Given the description of an element on the screen output the (x, y) to click on. 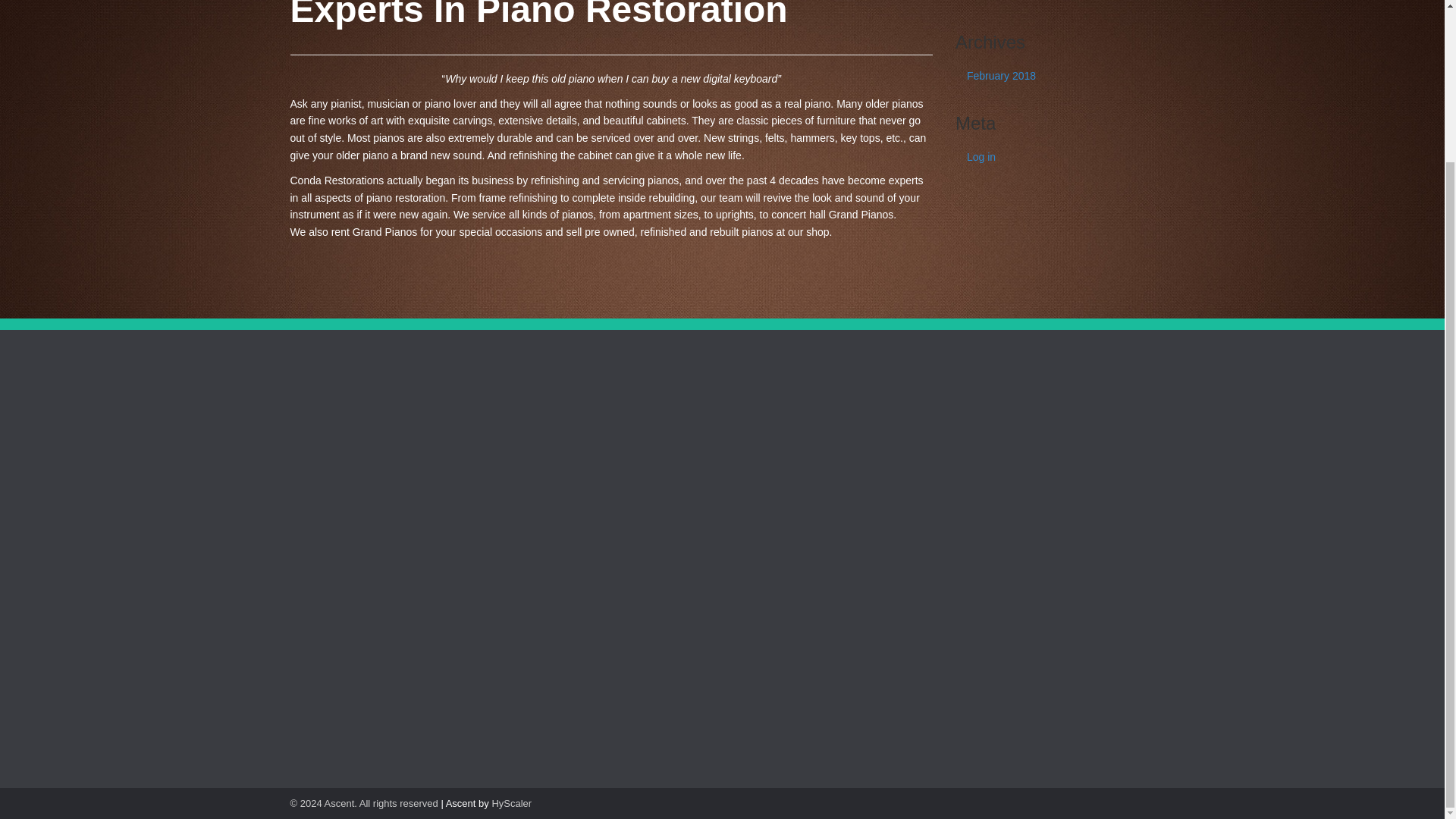
Log in (1054, 156)
A Semantic Personal Publishing Platform (363, 803)
February 2018 (1054, 75)
HyScaler (511, 803)
